Given the description of an element on the screen output the (x, y) to click on. 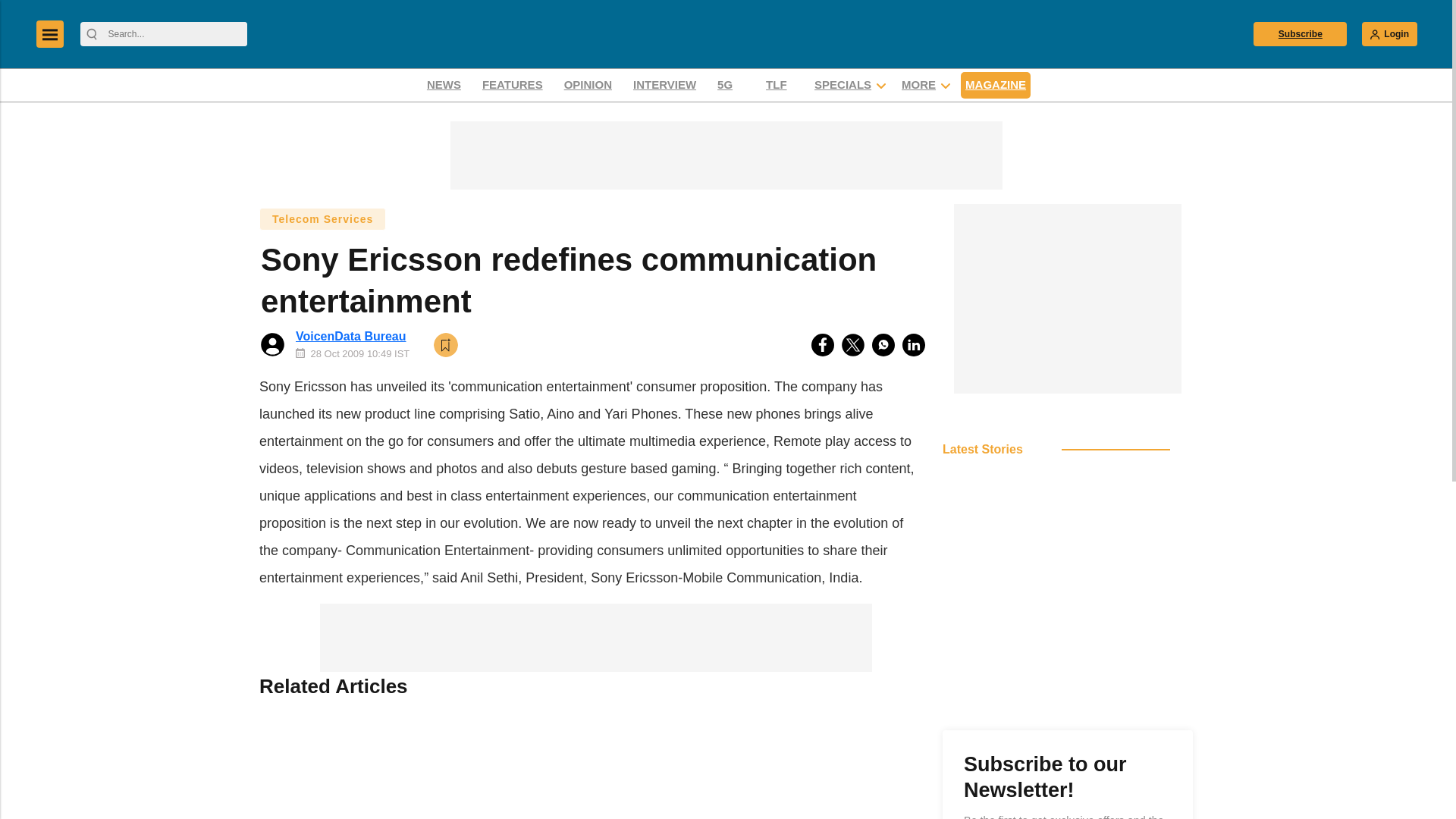
INTERVIEW (664, 84)
OPINION (588, 84)
VoicenData Bureau (350, 336)
FEATURES (512, 84)
TLF (778, 84)
SPECIALS (842, 84)
NEWS (443, 84)
Login (1388, 33)
MORE (918, 84)
5G (730, 84)
Telecom Services (322, 219)
Subscribe (1299, 33)
MAGAZINE (995, 85)
